Given the description of an element on the screen output the (x, y) to click on. 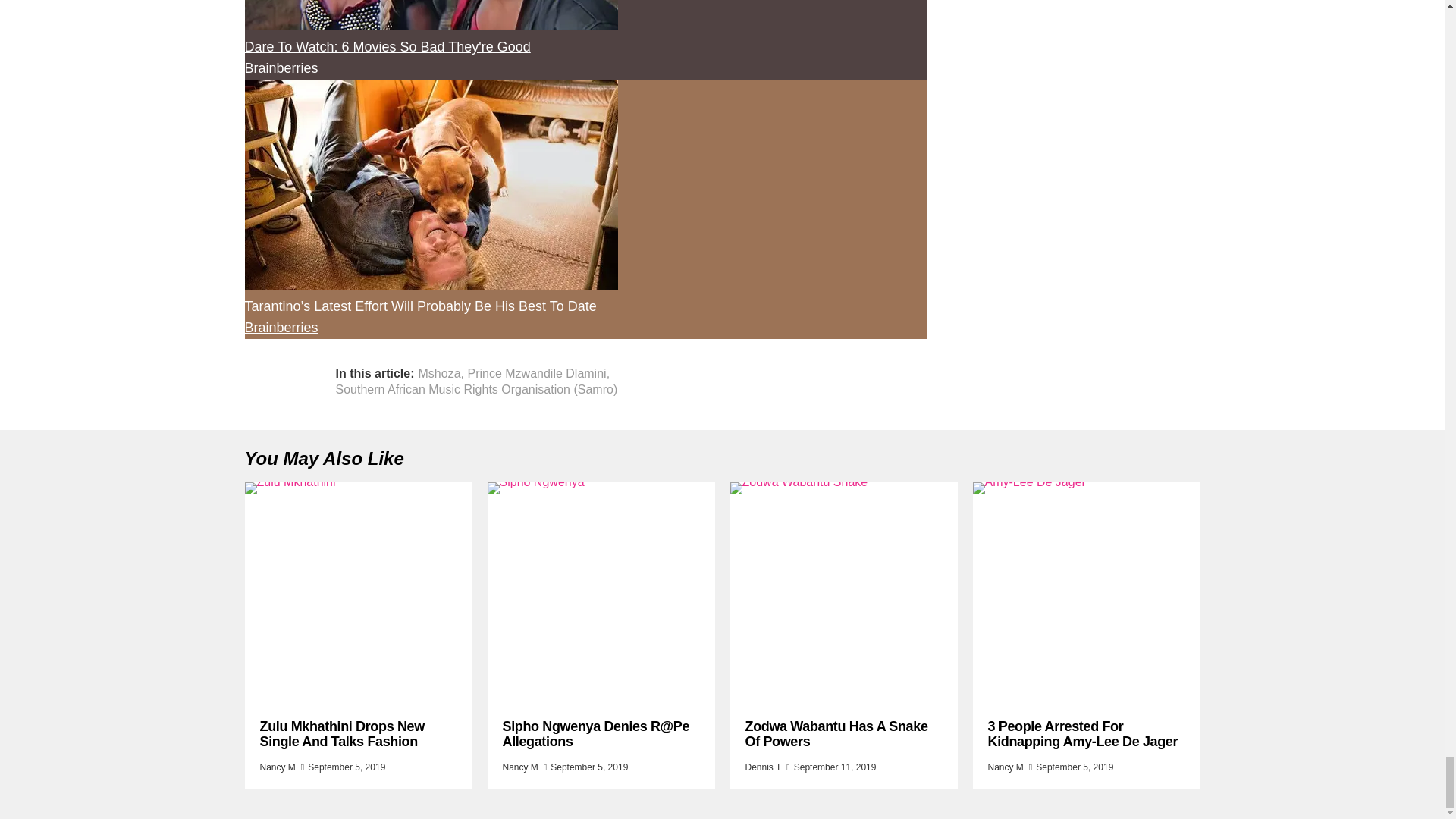
Posts by Dennis T (762, 767)
Posts by Nancy M (277, 767)
Posts by Nancy M (1005, 767)
Posts by Nancy M (519, 767)
